Given the description of an element on the screen output the (x, y) to click on. 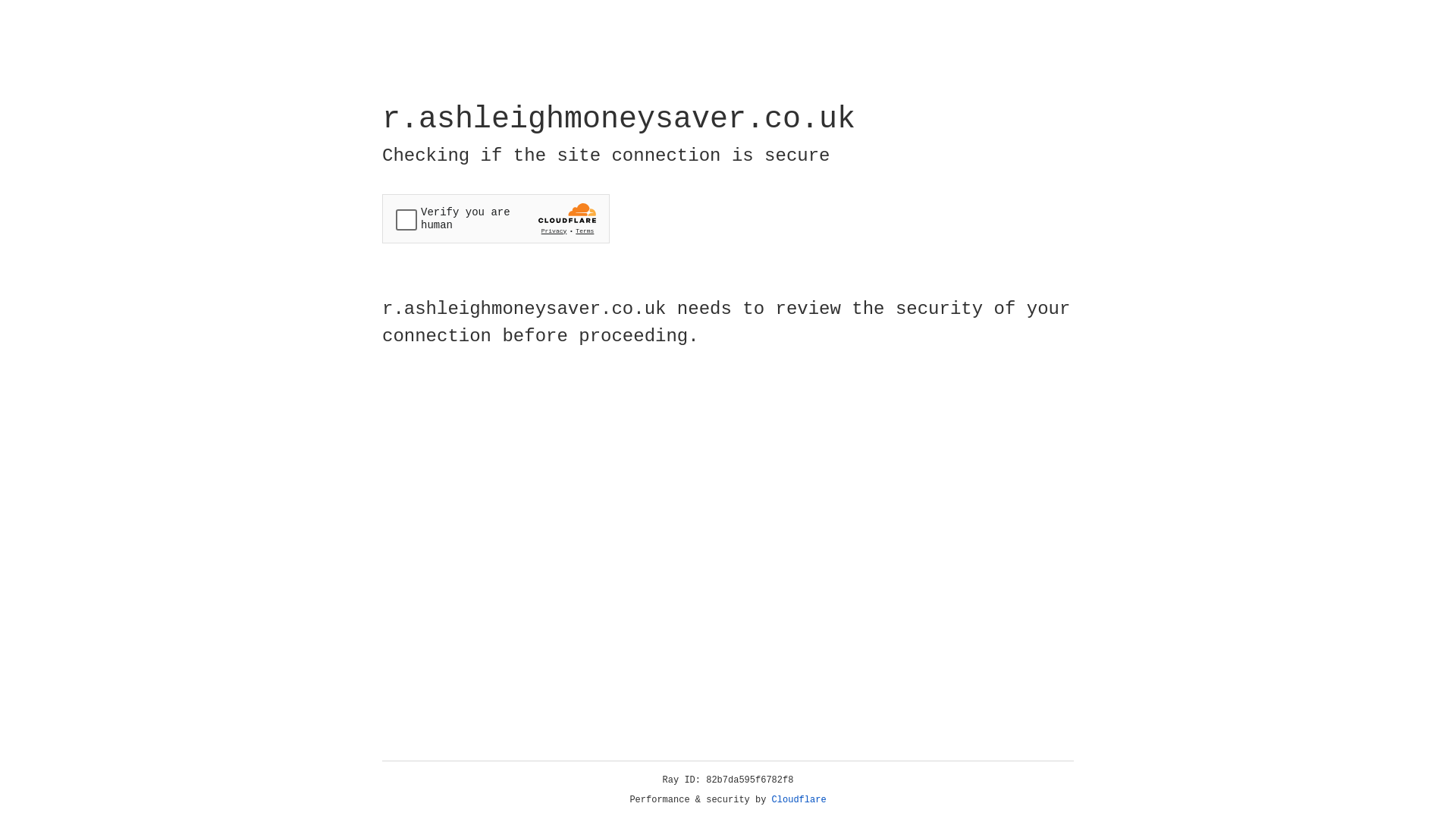
Cloudflare Element type: text (798, 799)
Widget containing a Cloudflare security challenge Element type: hover (495, 218)
